Given the description of an element on the screen output the (x, y) to click on. 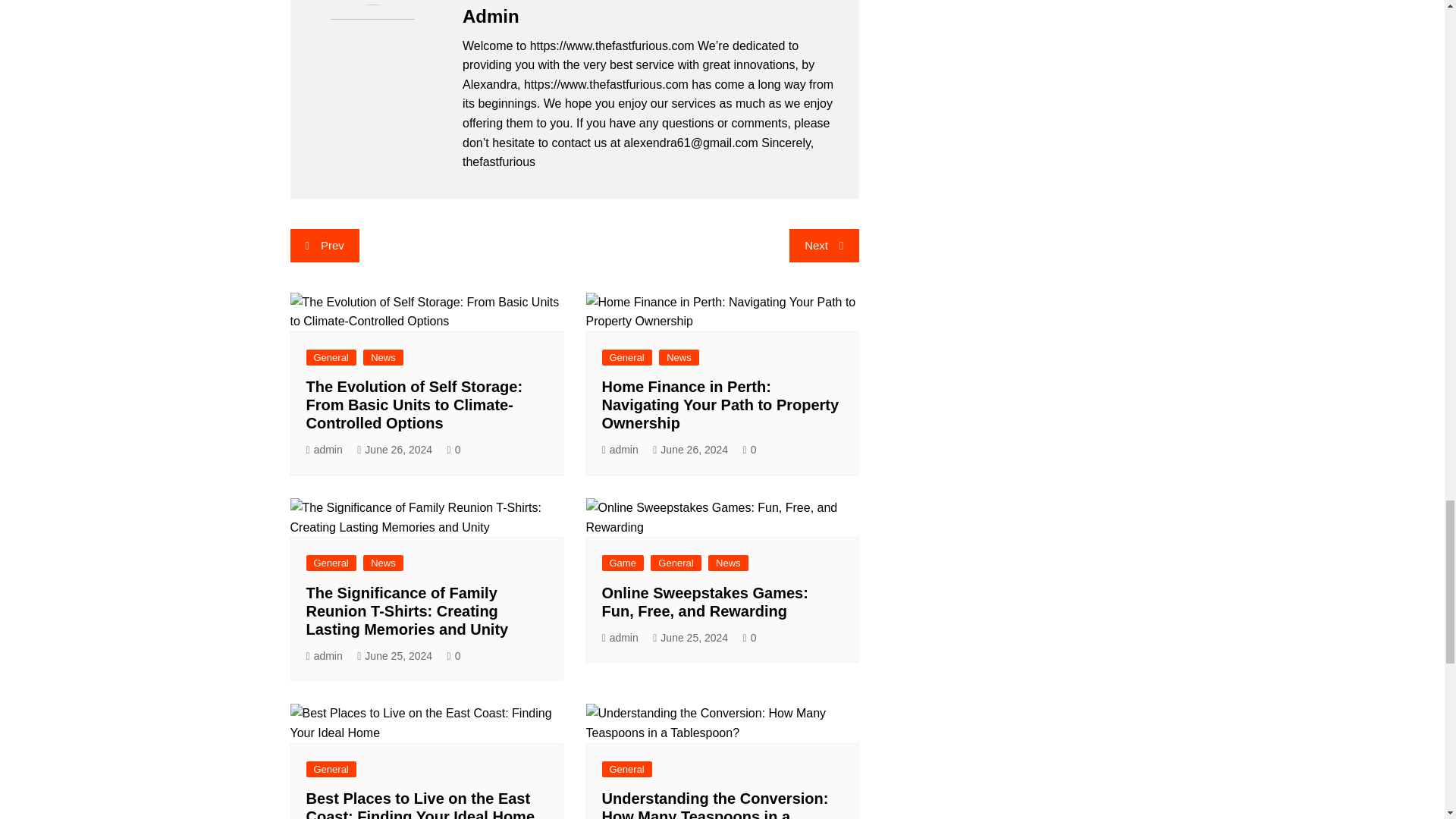
Prev (323, 245)
Next (824, 245)
General (330, 357)
